Given the description of an element on the screen output the (x, y) to click on. 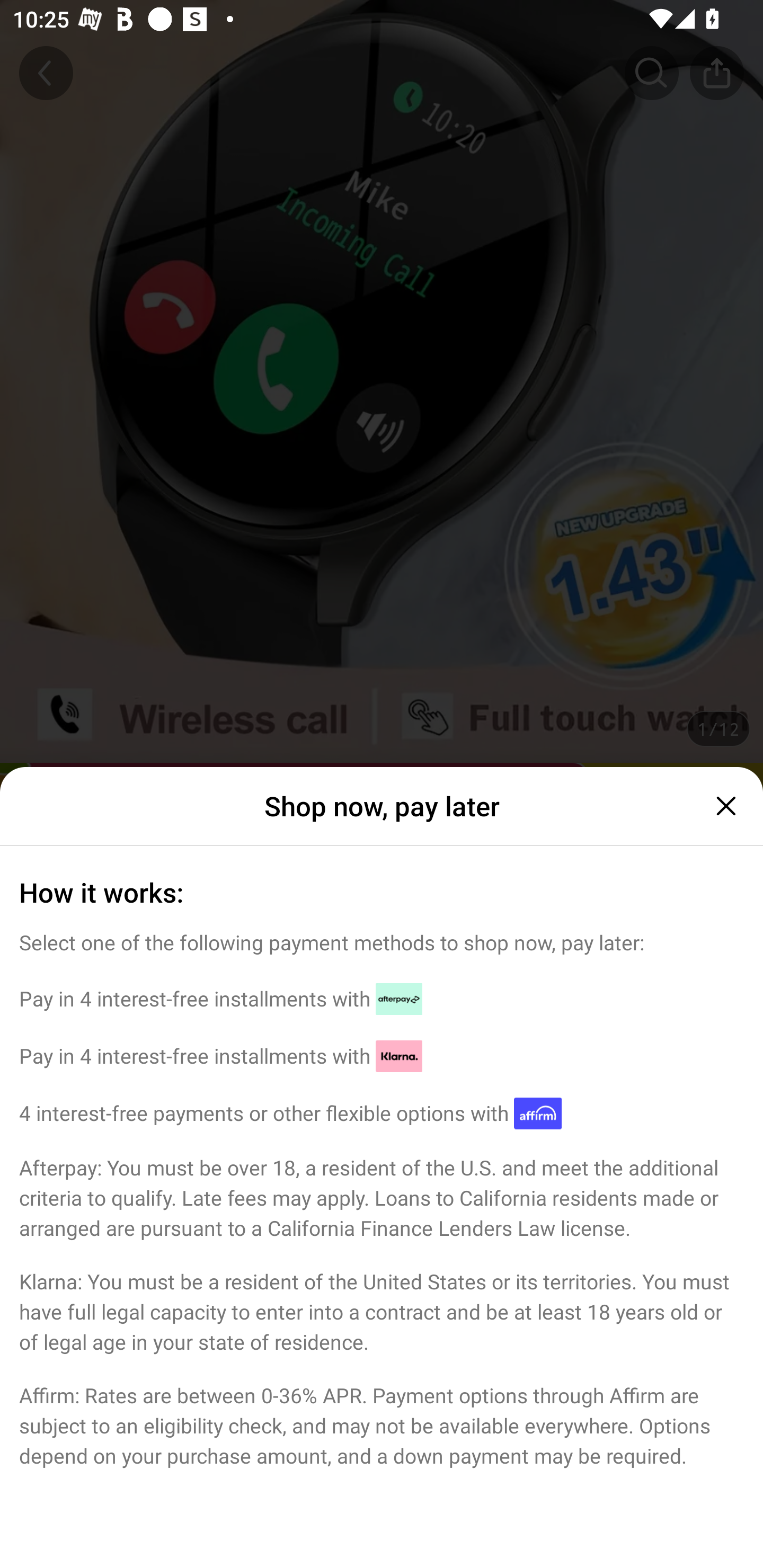
close (724, 805)
